Given the description of an element on the screen output the (x, y) to click on. 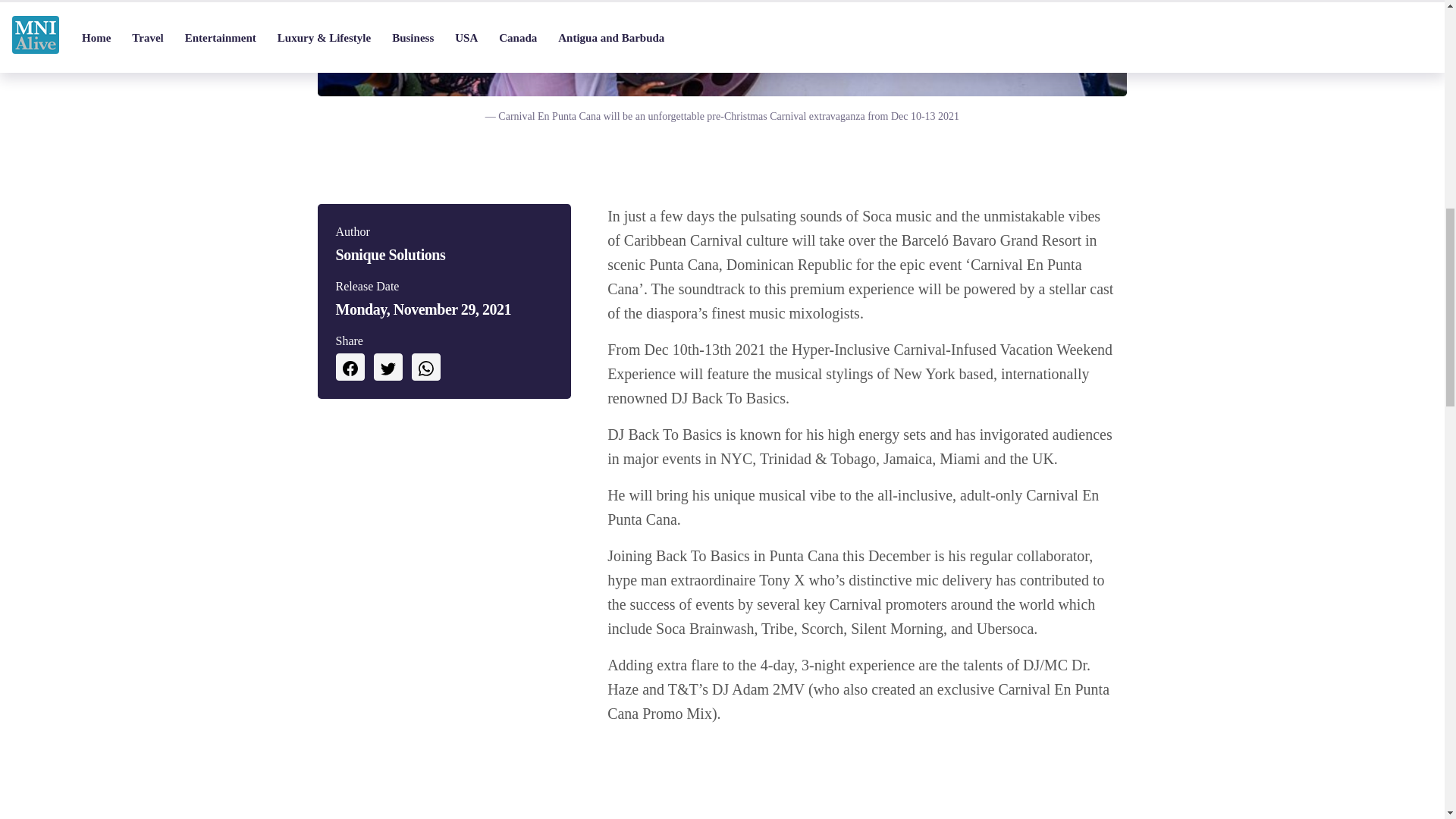
Share on Facebook (349, 366)
Share on Twitter (386, 366)
Advertisement (861, 778)
Share on WhatsApp (424, 366)
